Given the description of an element on the screen output the (x, y) to click on. 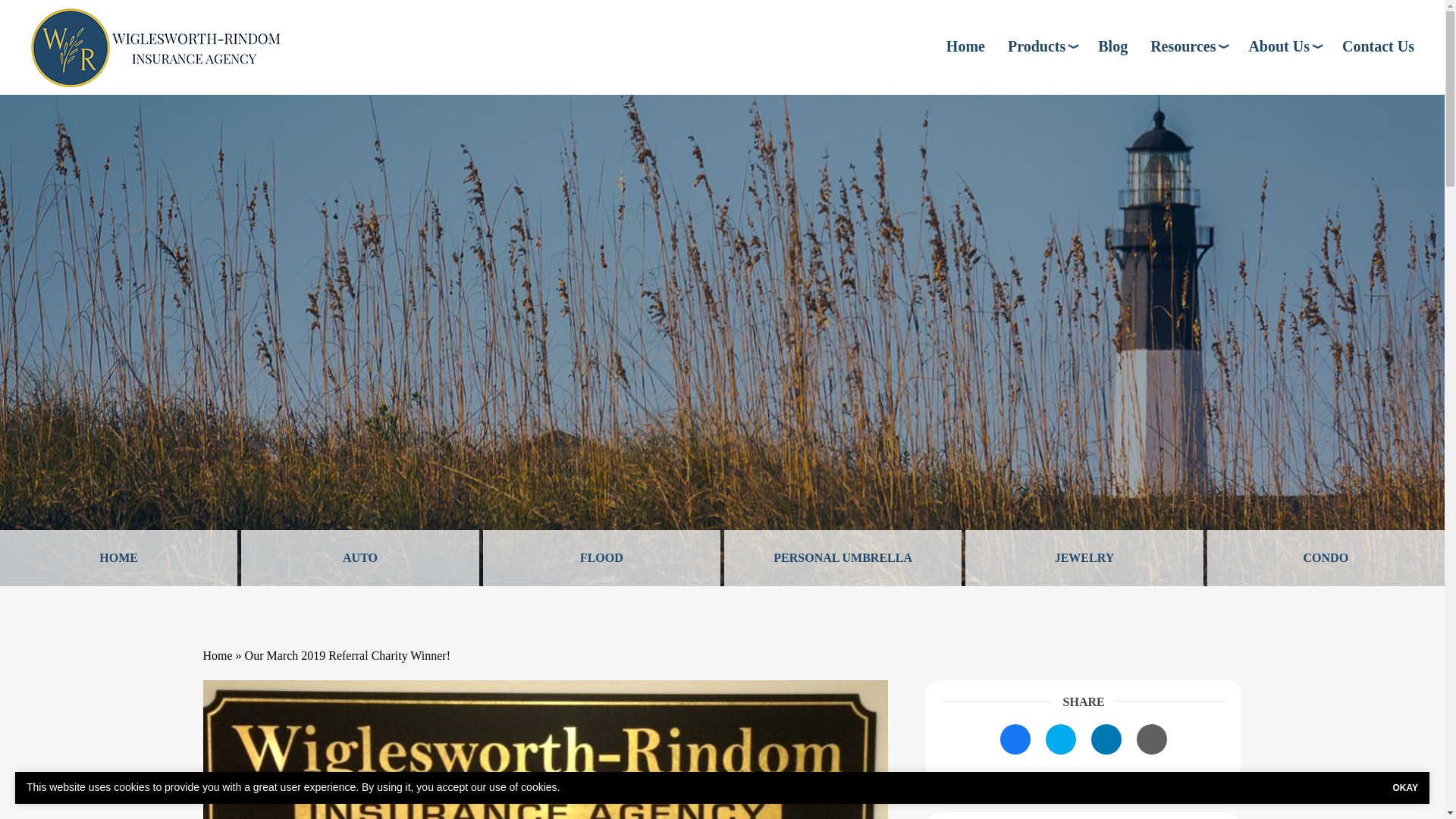
Home (965, 46)
About Us (1283, 46)
PERSONAL UMBRELLA (841, 557)
Resources (1187, 46)
Blog (1111, 46)
FLOOD (601, 557)
HOME (118, 557)
Products (1041, 46)
AUTO (360, 557)
Contact Us (1377, 46)
